Given the description of an element on the screen output the (x, y) to click on. 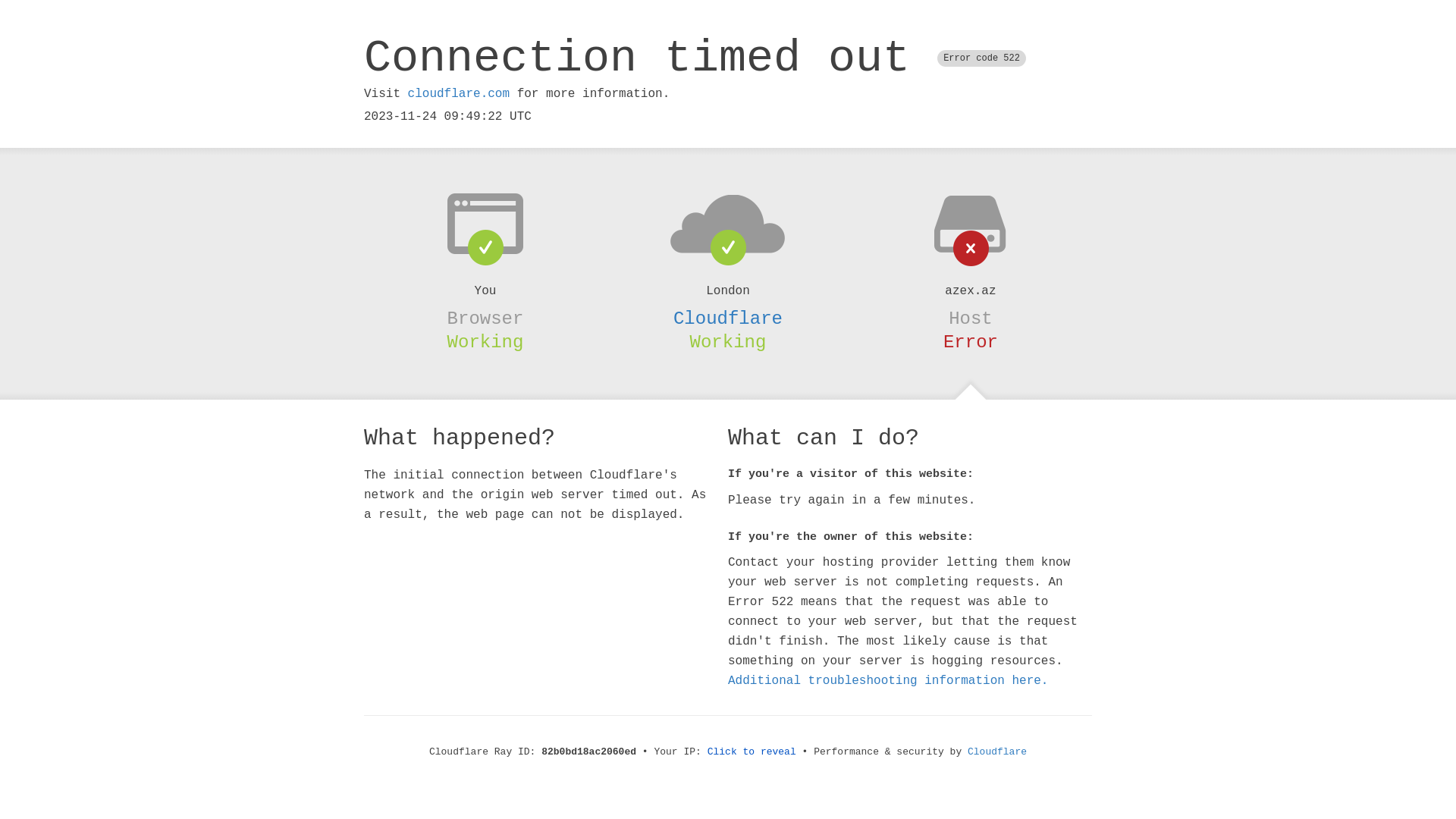
Additional troubleshooting information here. Element type: text (888, 680)
cloudflare.com Element type: text (458, 93)
Cloudflare Element type: text (727, 318)
Click to reveal Element type: text (751, 751)
Cloudflare Element type: text (996, 751)
